Given the description of an element on the screen output the (x, y) to click on. 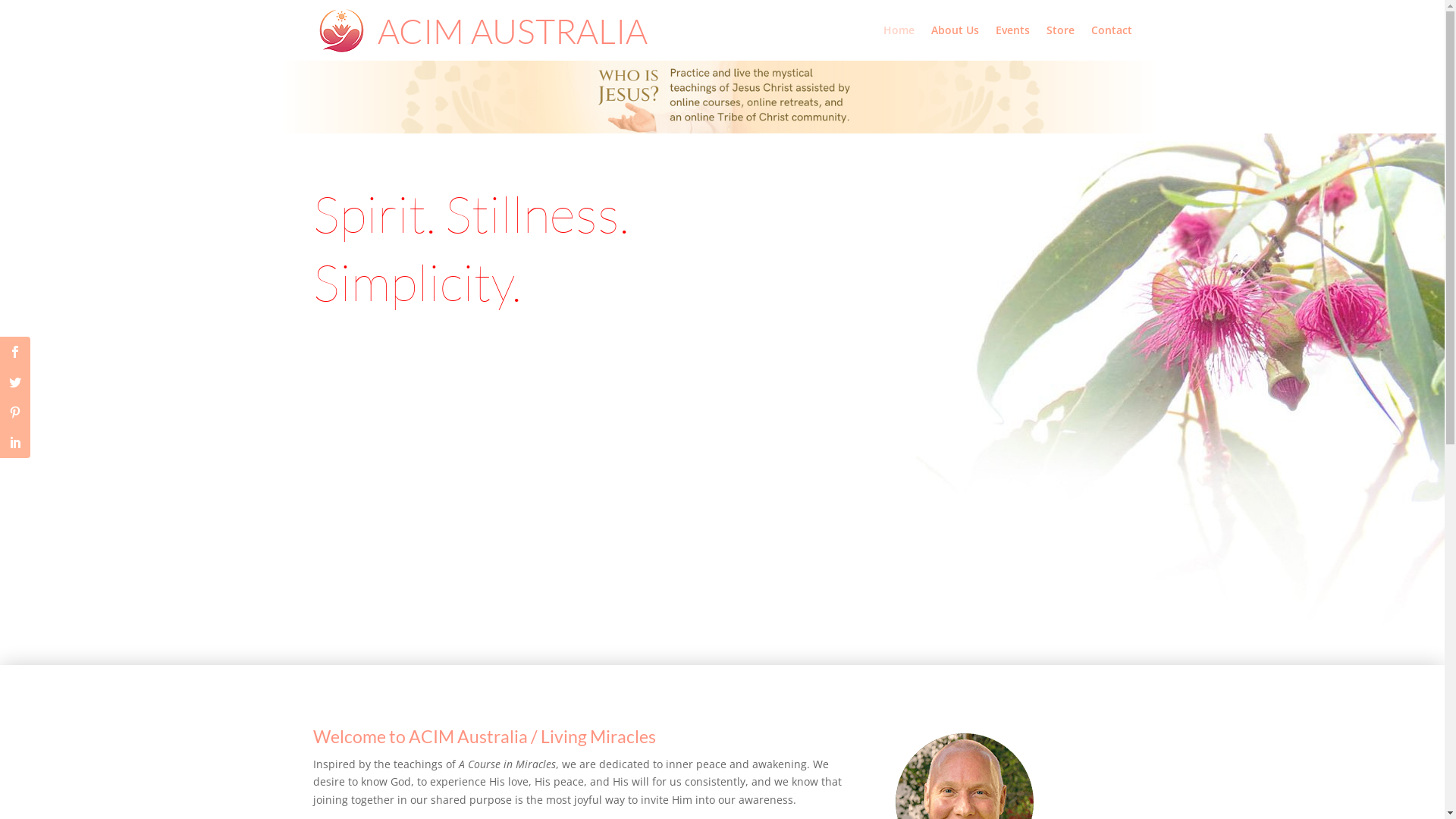
About Us Element type: text (955, 42)
Home Element type: text (897, 42)
Contact Element type: text (1110, 42)
Events Element type: text (1011, 42)
Store Element type: text (1060, 42)
